Given the description of an element on the screen output the (x, y) to click on. 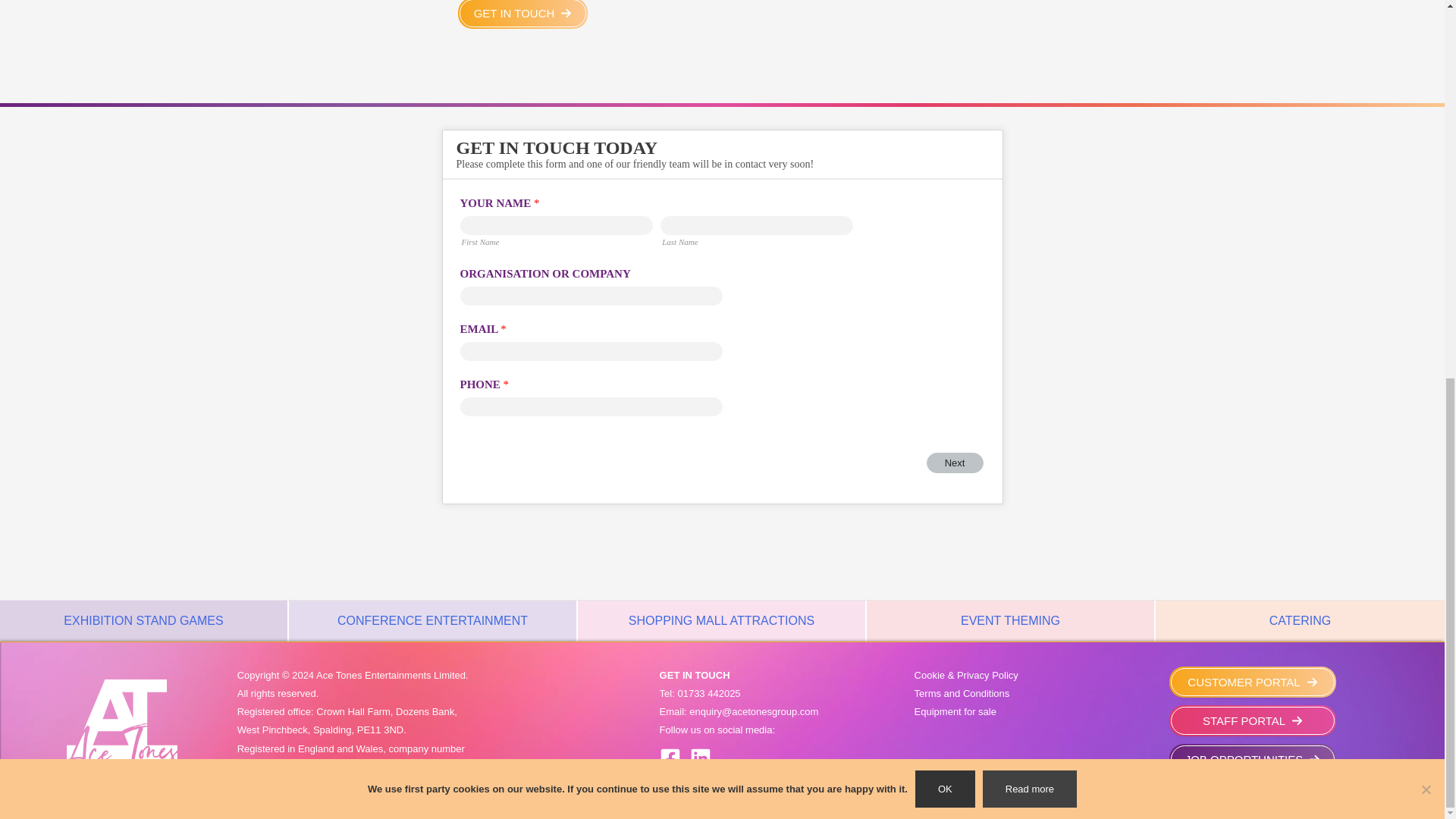
No (1425, 87)
